Given the description of an element on the screen output the (x, y) to click on. 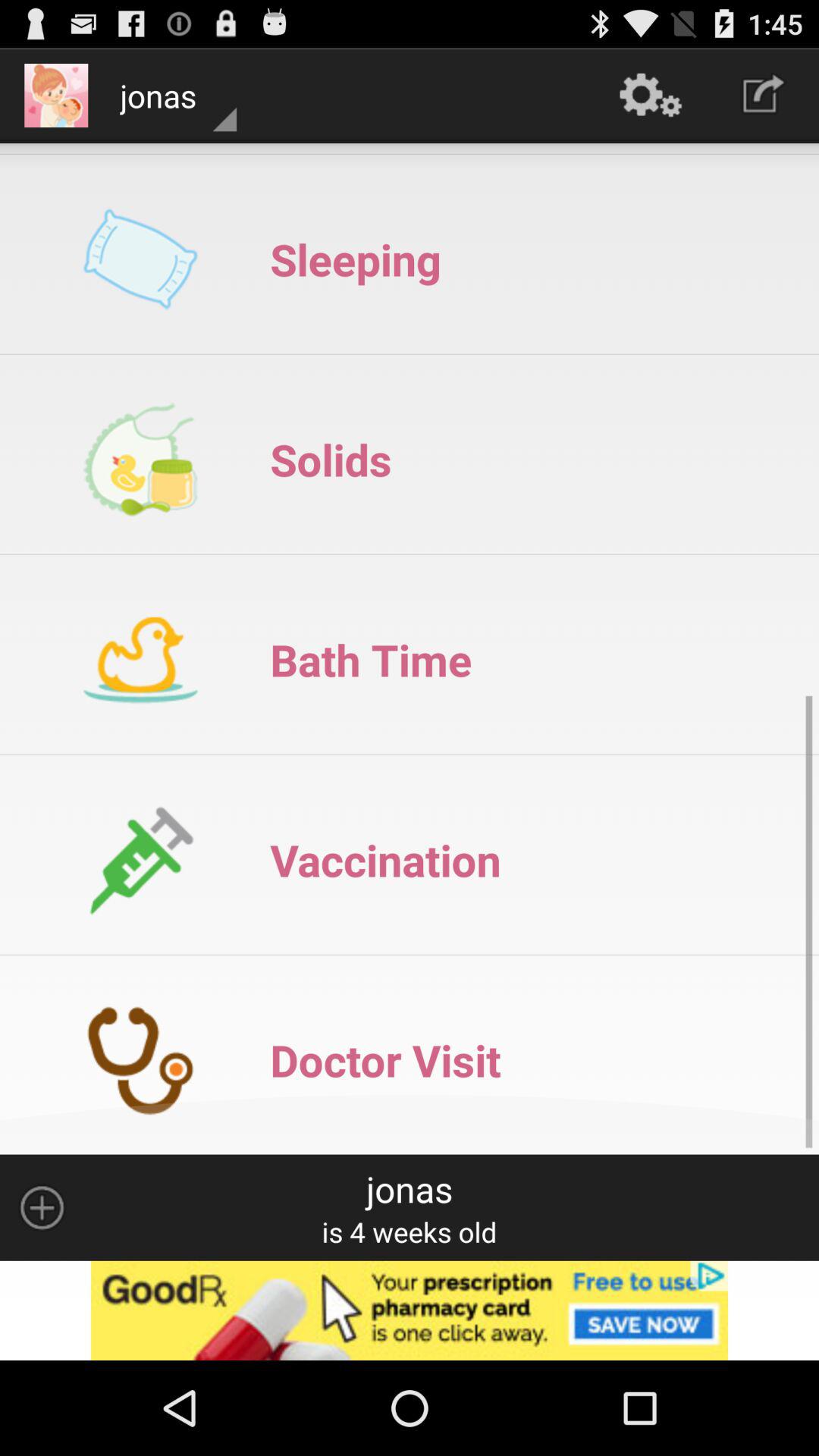
add event button (41, 1207)
